Given the description of an element on the screen output the (x, y) to click on. 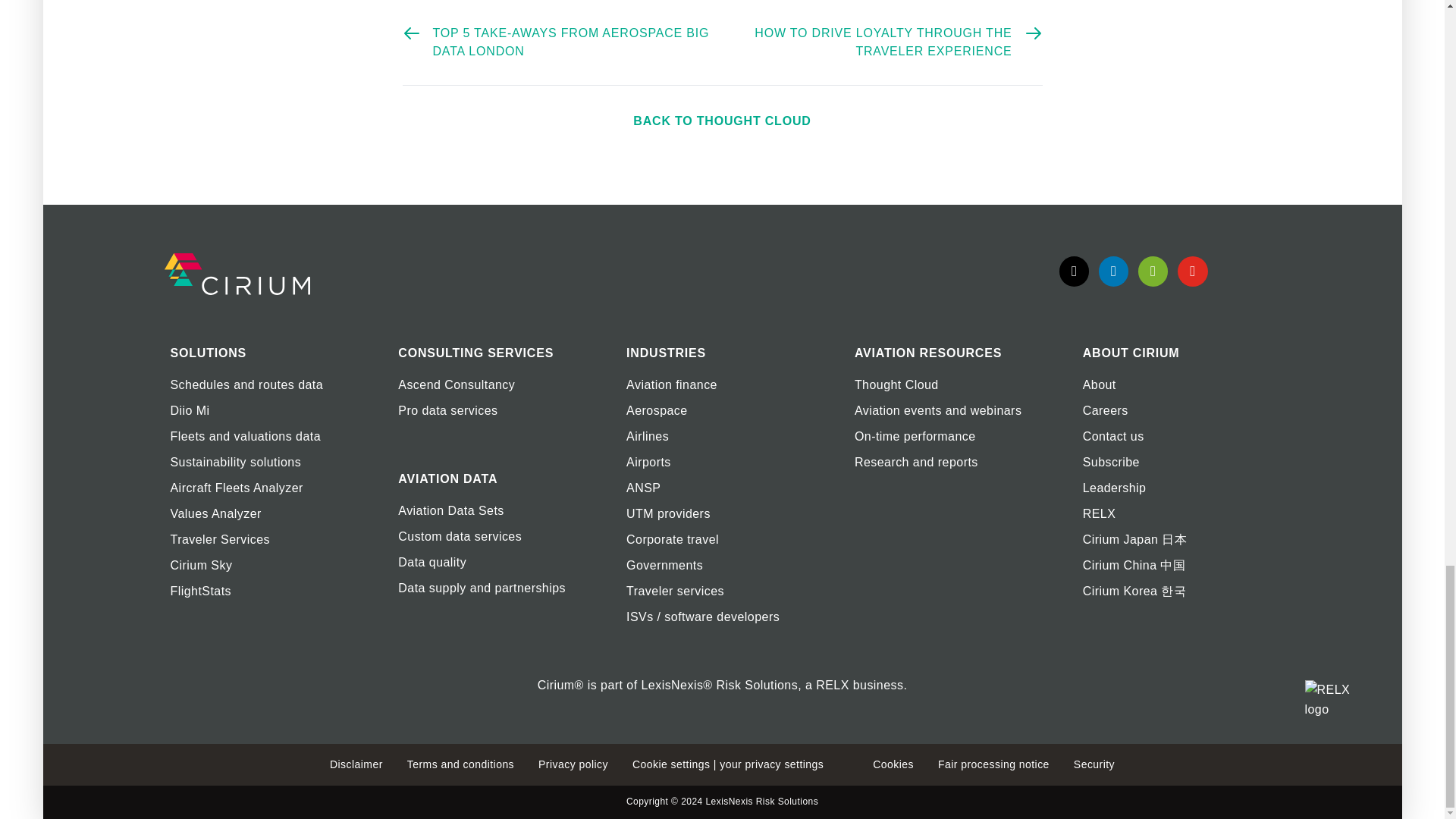
WeChat (1152, 269)
YouTube (1192, 269)
LinkedIn (1113, 269)
X (1074, 269)
